Given the description of an element on the screen output the (x, y) to click on. 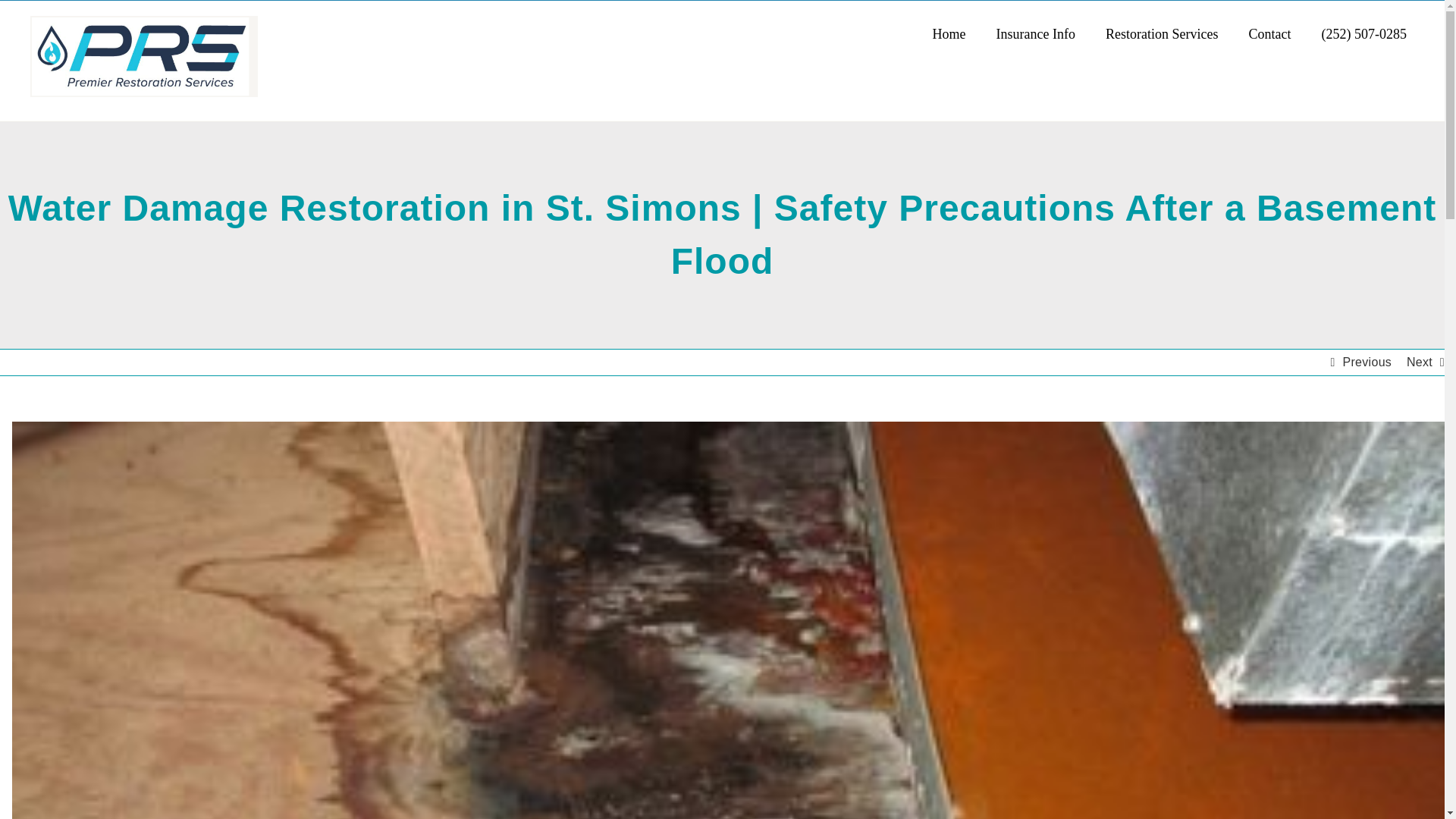
Restoration Services (1161, 32)
Insurance Info (1035, 32)
